Given the description of an element on the screen output the (x, y) to click on. 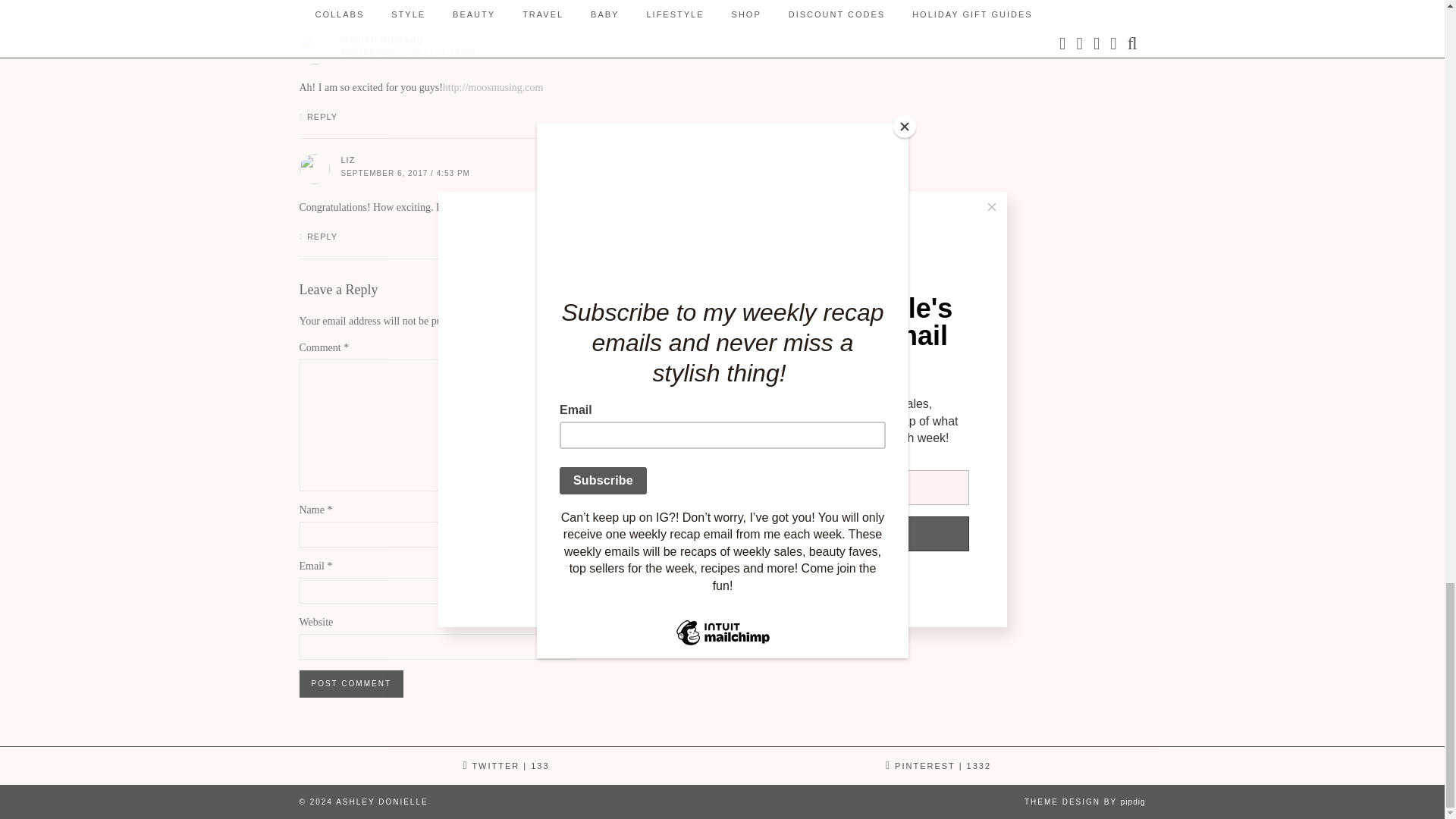
Post Comment (350, 683)
